Given the description of an element on the screen output the (x, y) to click on. 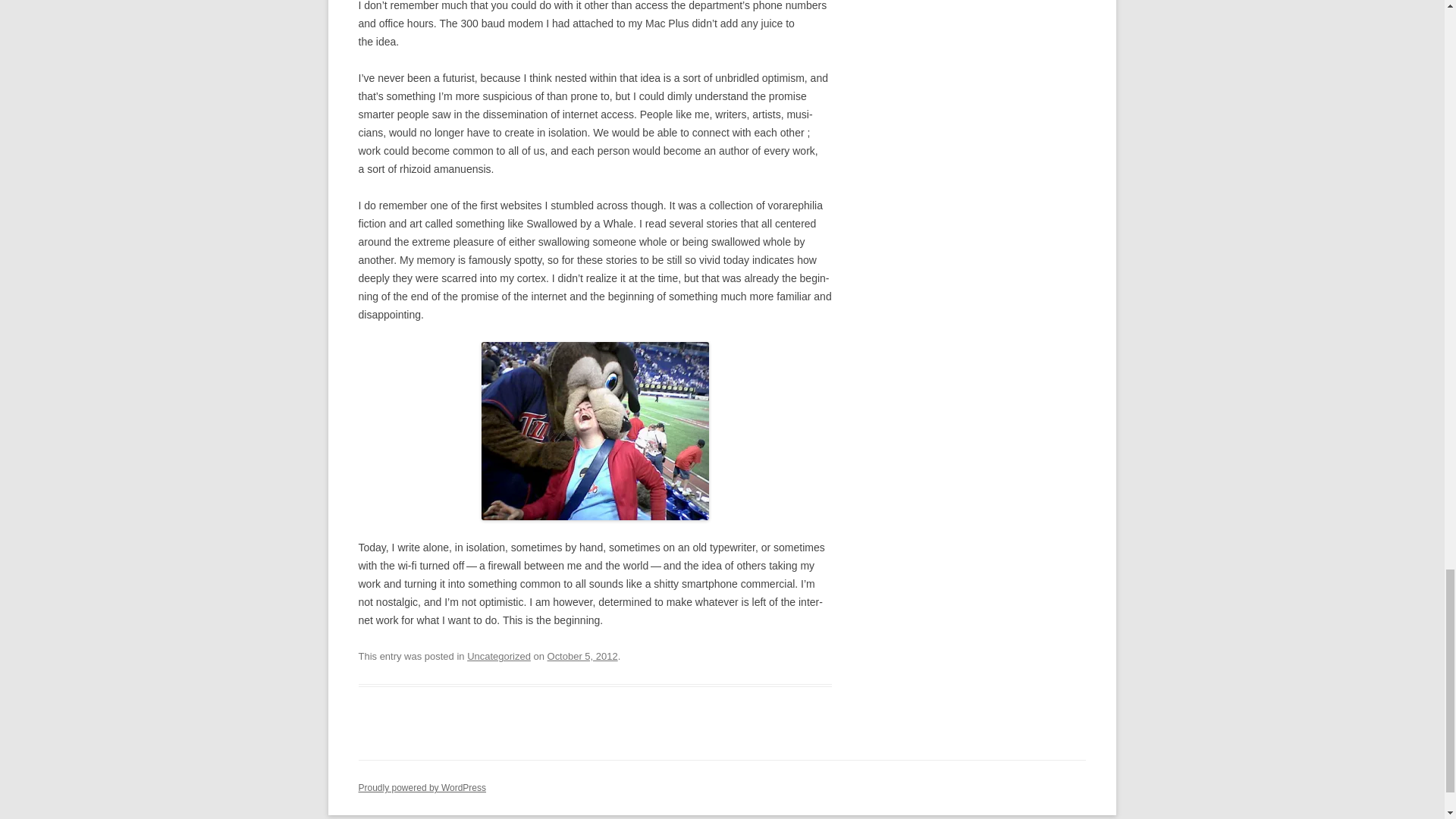
12 (595, 431)
Uncategorized (499, 655)
Semantic Personal Publishing Platform (422, 787)
October 5, 2012 (582, 655)
5:43 pm (582, 655)
